Given the description of an element on the screen output the (x, y) to click on. 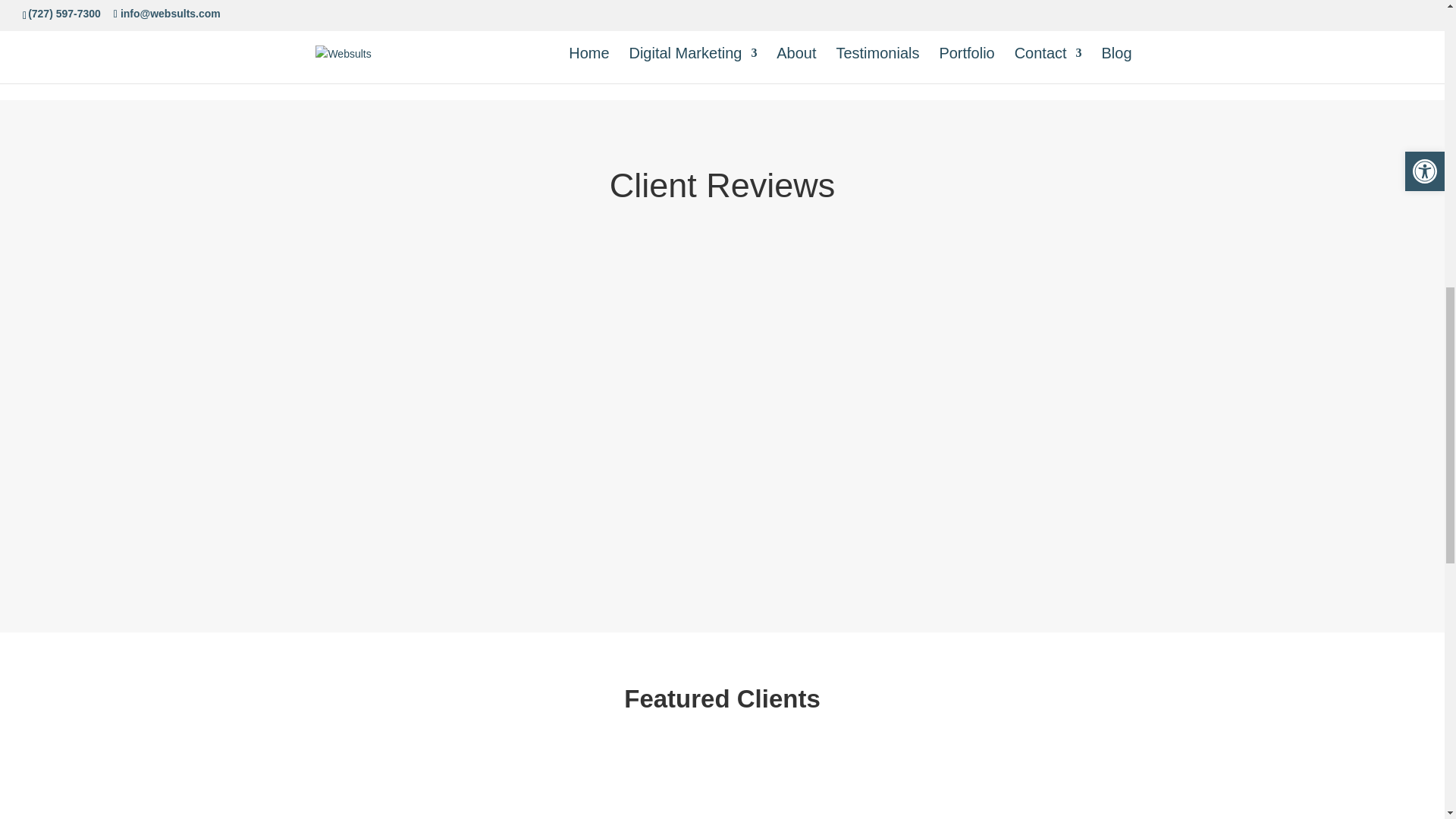
aa logo (388, 791)
image quest (829, 782)
bdg3 (613, 791)
